Given the description of an element on the screen output the (x, y) to click on. 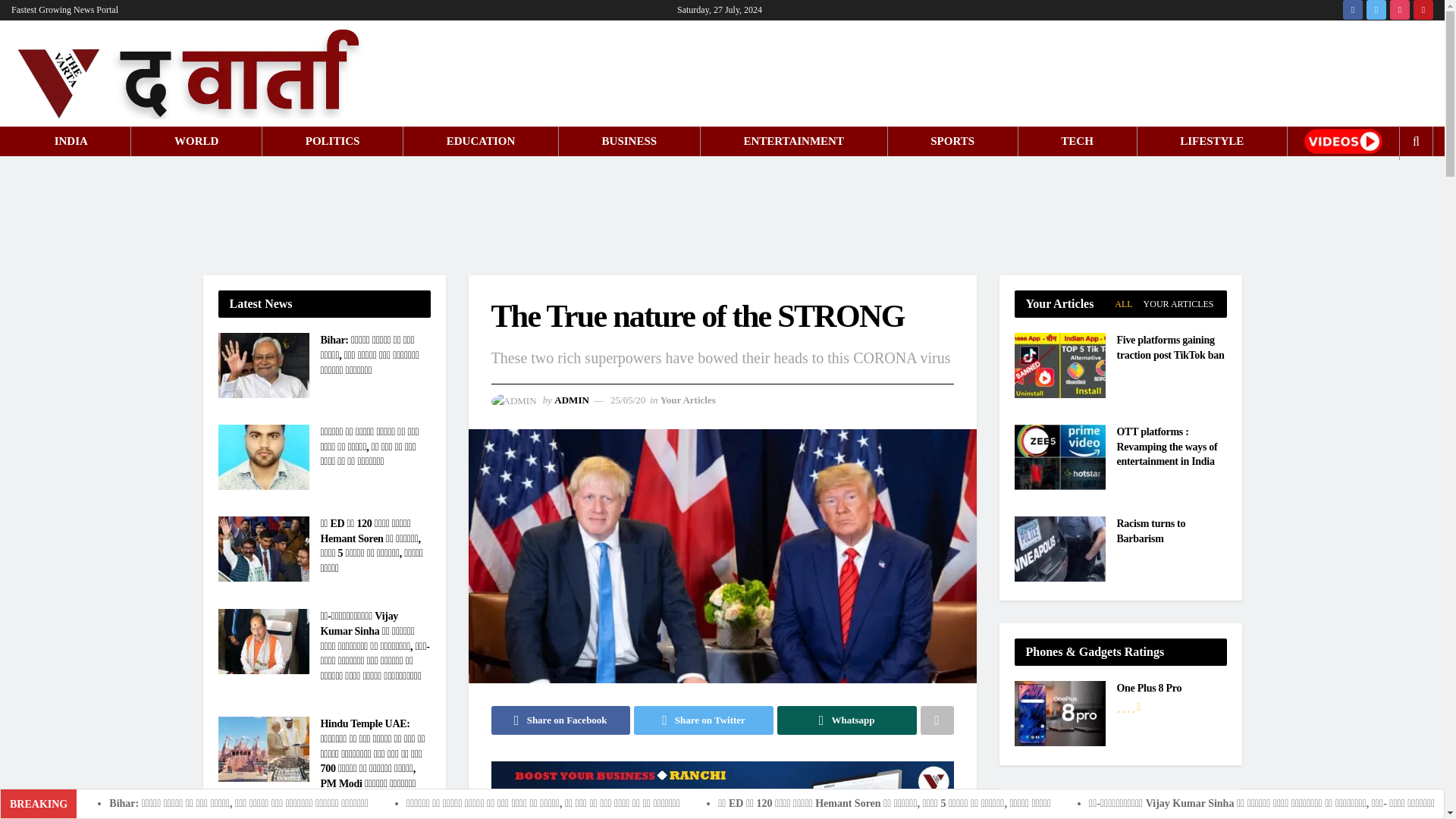
ADMIN (571, 399)
BUSINESS (630, 141)
Fastest Growing News Portal (64, 10)
Share on Twitter (703, 719)
TECH (1077, 141)
POLITICS (332, 141)
SPORTS (952, 141)
Your Articles (688, 399)
Whatsapp (847, 719)
Share on Facebook (561, 719)
ENTERTAINMENT (793, 141)
EDUCATION (480, 141)
WORLD (196, 141)
INDIA (71, 141)
Advertisement (722, 213)
